Given the description of an element on the screen output the (x, y) to click on. 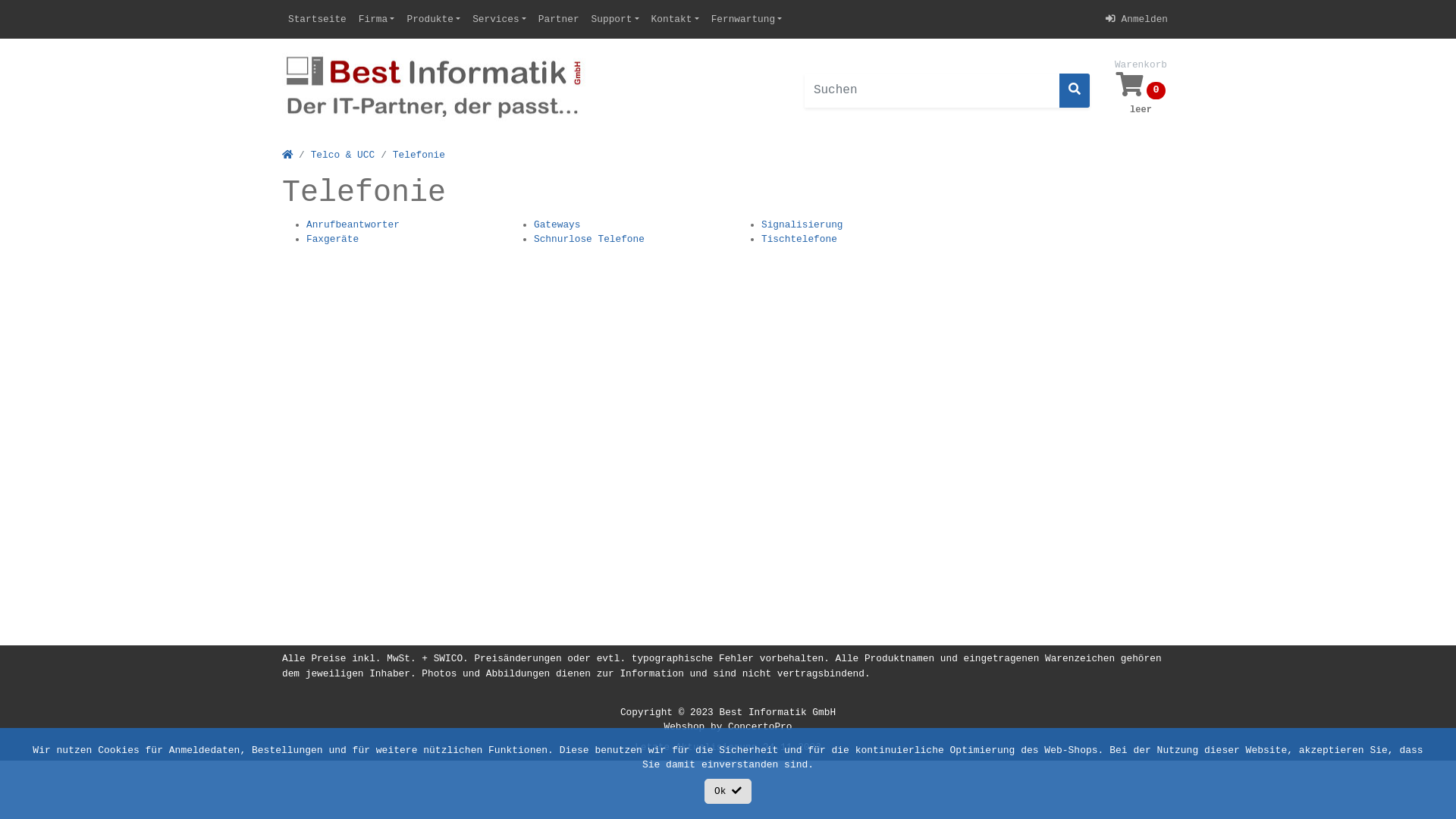
Kontakt Element type: text (675, 19)
Webshop Element type: text (684, 726)
Suche Element type: hover (1074, 90)
Warenkorb
0
leer Element type: text (1140, 89)
Support Element type: text (615, 19)
Signalisierung Element type: text (802, 224)
Startseite Element type: text (317, 19)
Services Element type: text (499, 19)
Gateways Element type: text (556, 224)
Firma Element type: text (376, 19)
Anrufbeantworter Element type: text (352, 224)
Fernwartung Element type: text (746, 19)
Ok Element type: text (727, 790)
Telefonie Element type: text (418, 154)
Schnurlose Telefone Element type: text (588, 238)
Best Informatik GmbH Element type: text (776, 712)
Anmelden Element type: text (1136, 19)
Produkte Element type: text (433, 19)
Partner Element type: text (558, 19)
Tischtelefone Element type: text (799, 238)
ConcertoPro Element type: text (759, 726)
Telco & UCC Element type: text (342, 154)
